Given the description of an element on the screen output the (x, y) to click on. 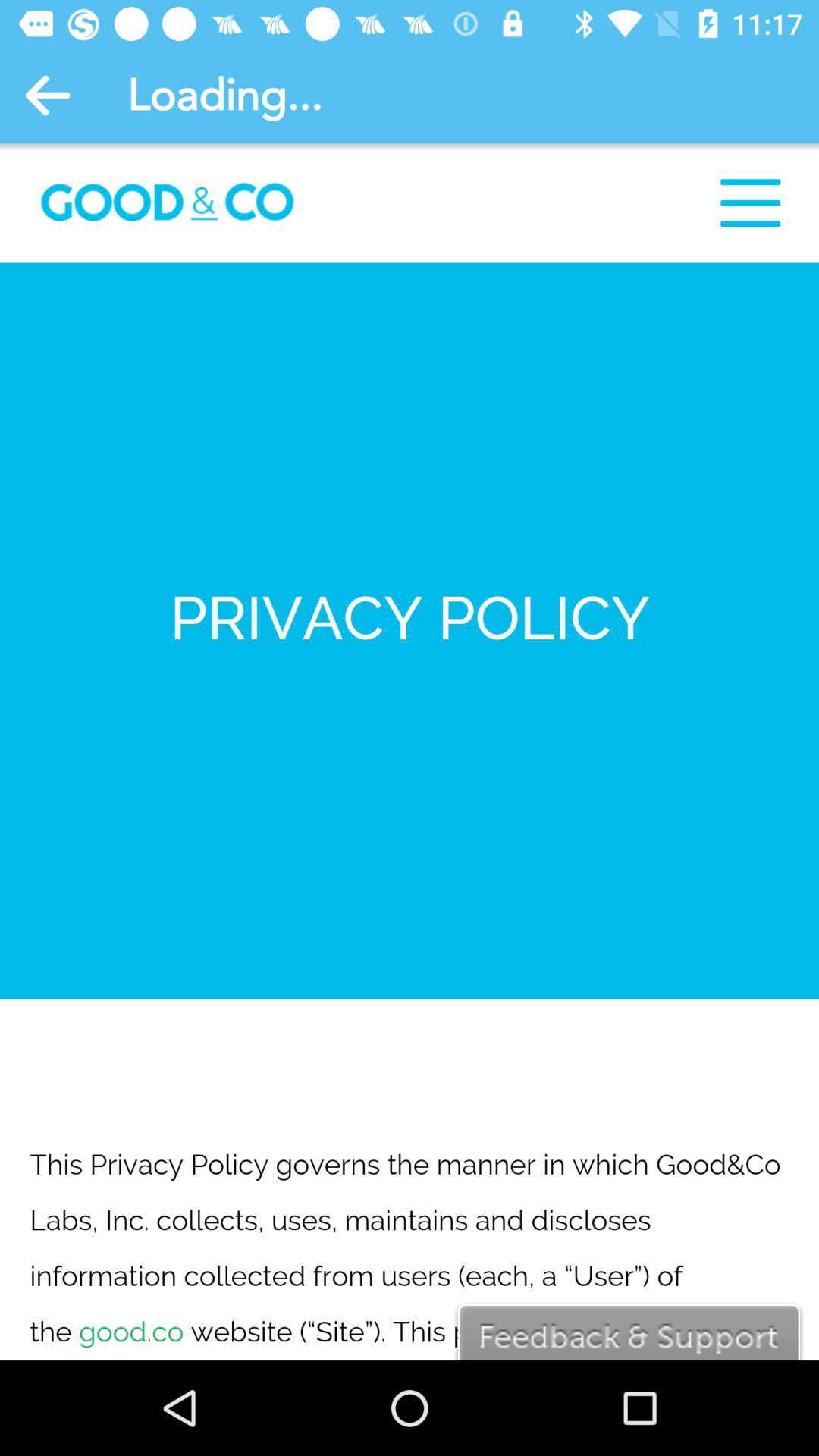
full display (409, 751)
